Given the description of an element on the screen output the (x, y) to click on. 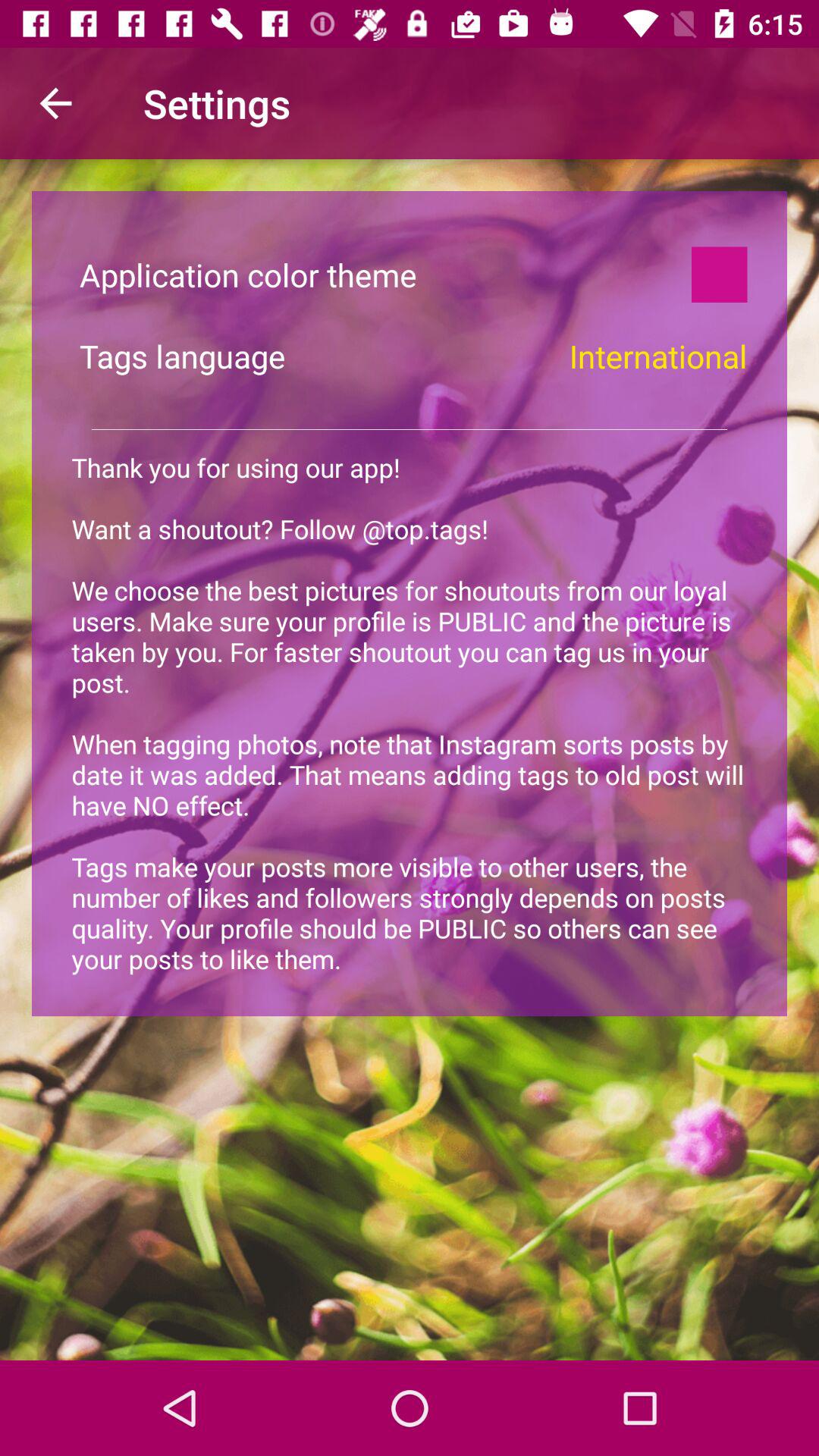
select the item to the left of settings (55, 103)
